Given the description of an element on the screen output the (x, y) to click on. 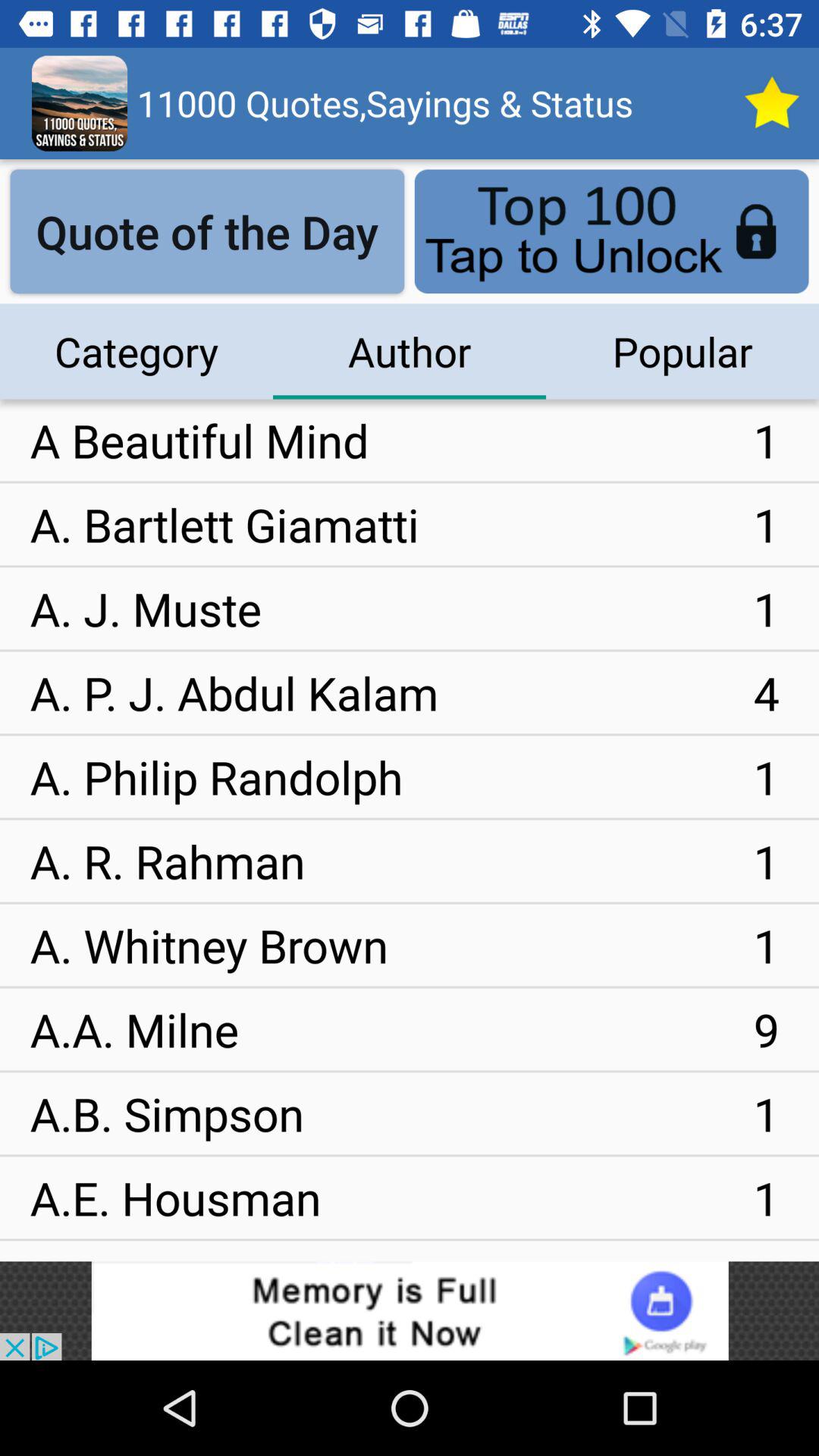
click on the first left button (207, 232)
click on the text next to author (682, 351)
click on the blue color button above popular (611, 232)
